Given the description of an element on the screen output the (x, y) to click on. 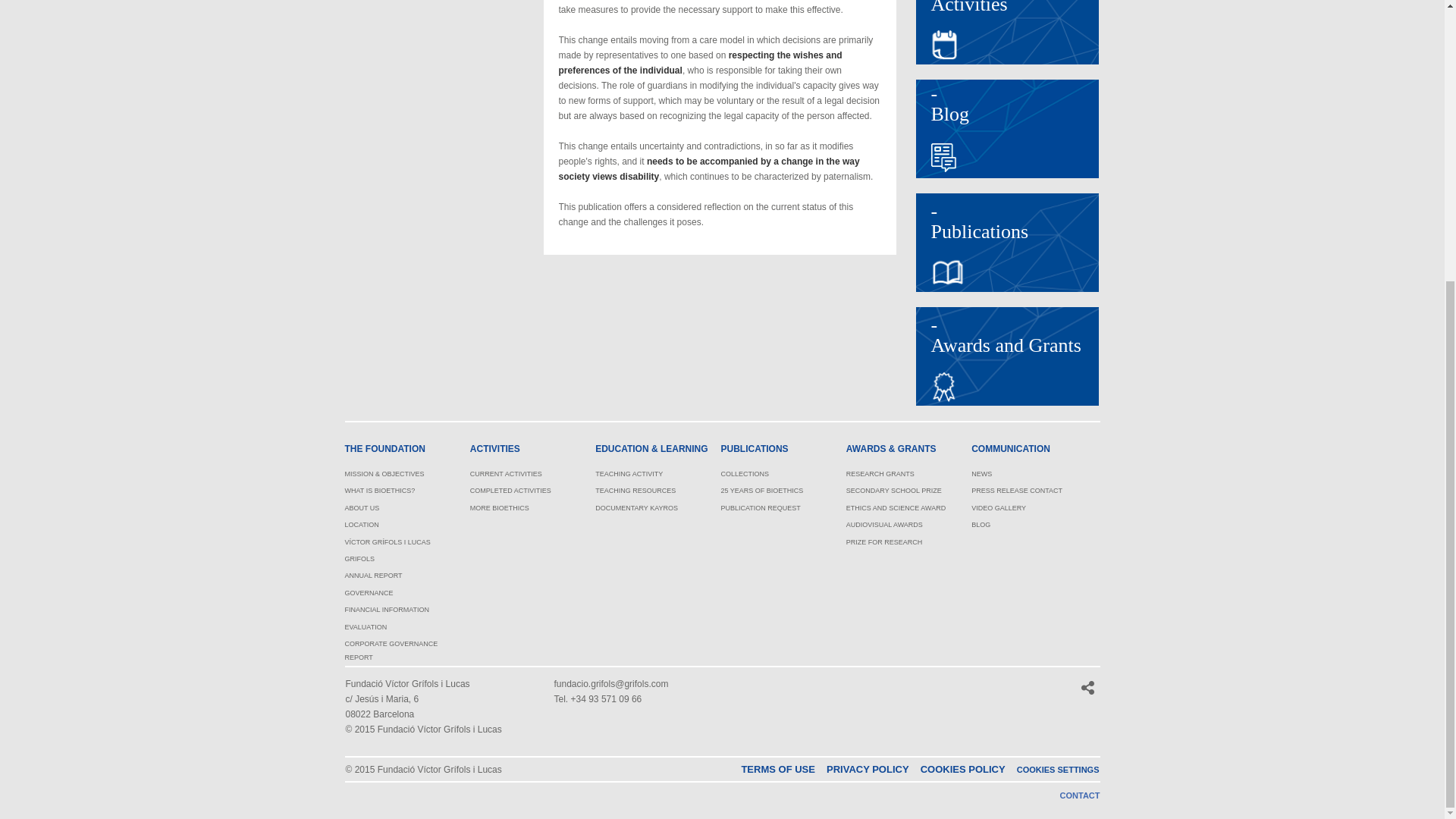
Follow us on Facebook (965, 687)
